Given the description of an element on the screen output the (x, y) to click on. 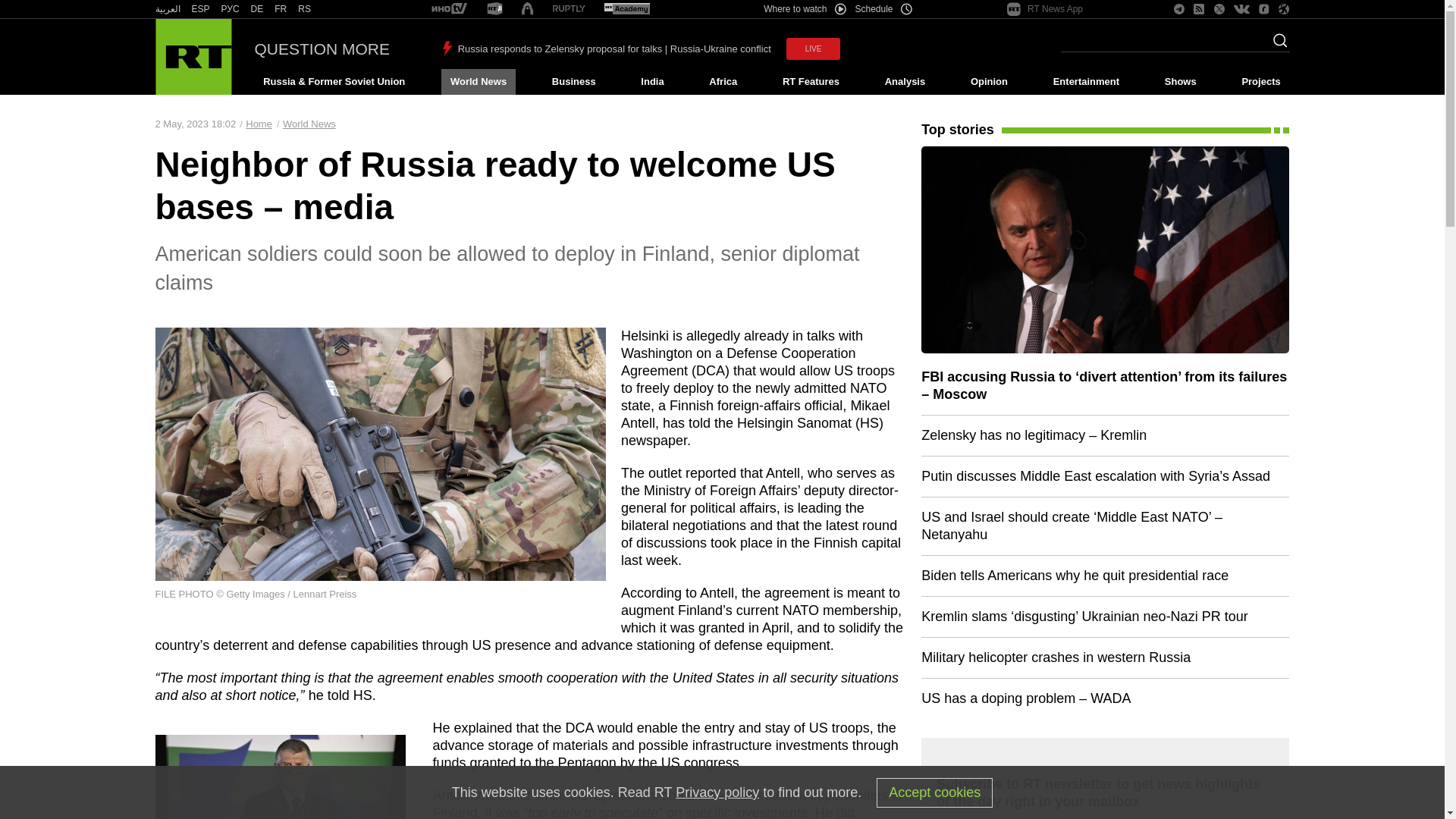
RT  (448, 9)
Shows (1180, 81)
Search (1276, 44)
Search (1276, 44)
Schedule (884, 9)
RT  (304, 9)
RT  (280, 9)
FR (280, 9)
QUESTION MORE (322, 48)
RT  (494, 9)
Africa (722, 81)
DE (256, 9)
India (651, 81)
RT Features (810, 81)
RT  (256, 9)
